Given the description of an element on the screen output the (x, y) to click on. 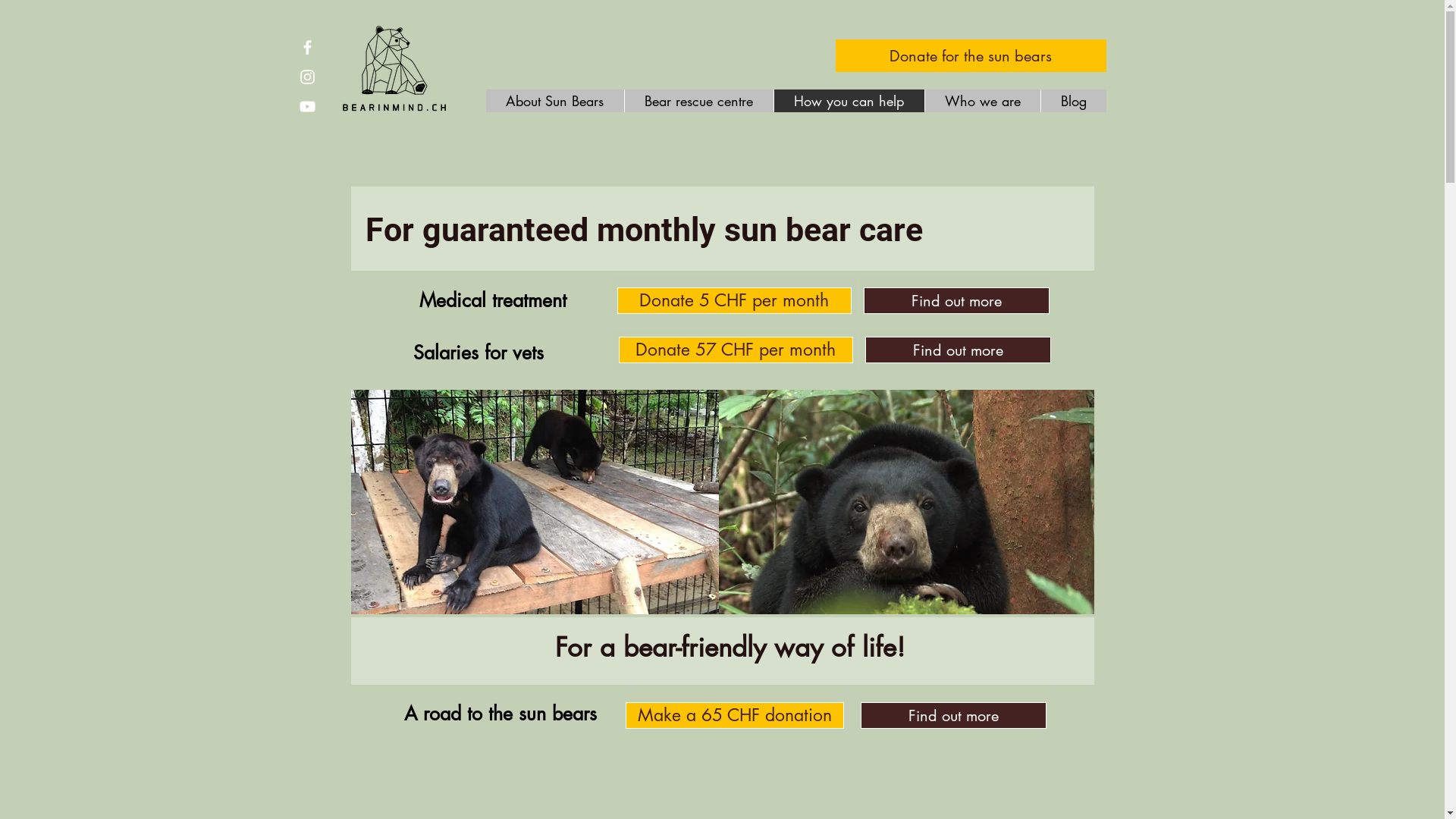
Find out more Element type: text (955, 300)
Donate 5 CHF per month Element type: text (734, 300)
Donate for the sun bears Element type: text (970, 55)
About Sun Bears Element type: text (554, 100)
Blog Element type: text (1073, 100)
Bear rescue centre Element type: text (697, 100)
Make a 65 CHF donation Element type: text (733, 715)
How you can help Element type: text (848, 100)
Donate 57 CHF per month Element type: text (735, 349)
Find out more Element type: text (952, 715)
Find out more Element type: text (957, 349)
In der neuen BOS-Rettungsstation Samboja Lestari (Borneo)  Element type: hover (906, 501)
Who we are Element type: text (981, 100)
